Given the description of an element on the screen output the (x, y) to click on. 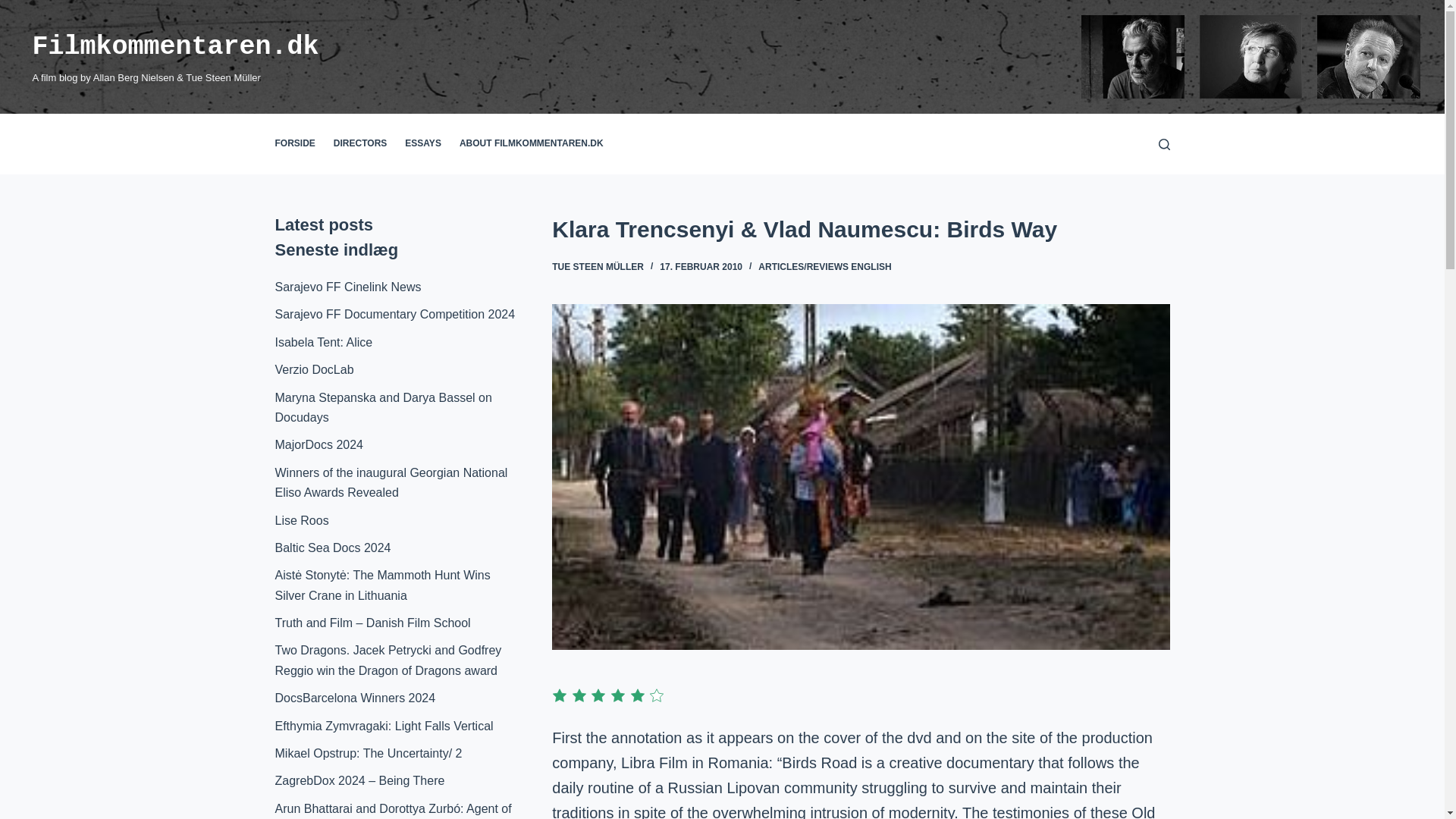
DIRECTORS (360, 143)
Lise Roos (302, 520)
MajorDocs 2024 (318, 444)
Skip to content (15, 7)
Maryna Stepanska and Darya Bassel on Docudays (383, 407)
Baltic Sea Docs 2024 (332, 547)
Sarajevo FF Cinelink News (347, 286)
Isabela Tent: Alice (323, 341)
Sarajevo FF Documentary Competition 2024 (395, 314)
